Given the description of an element on the screen output the (x, y) to click on. 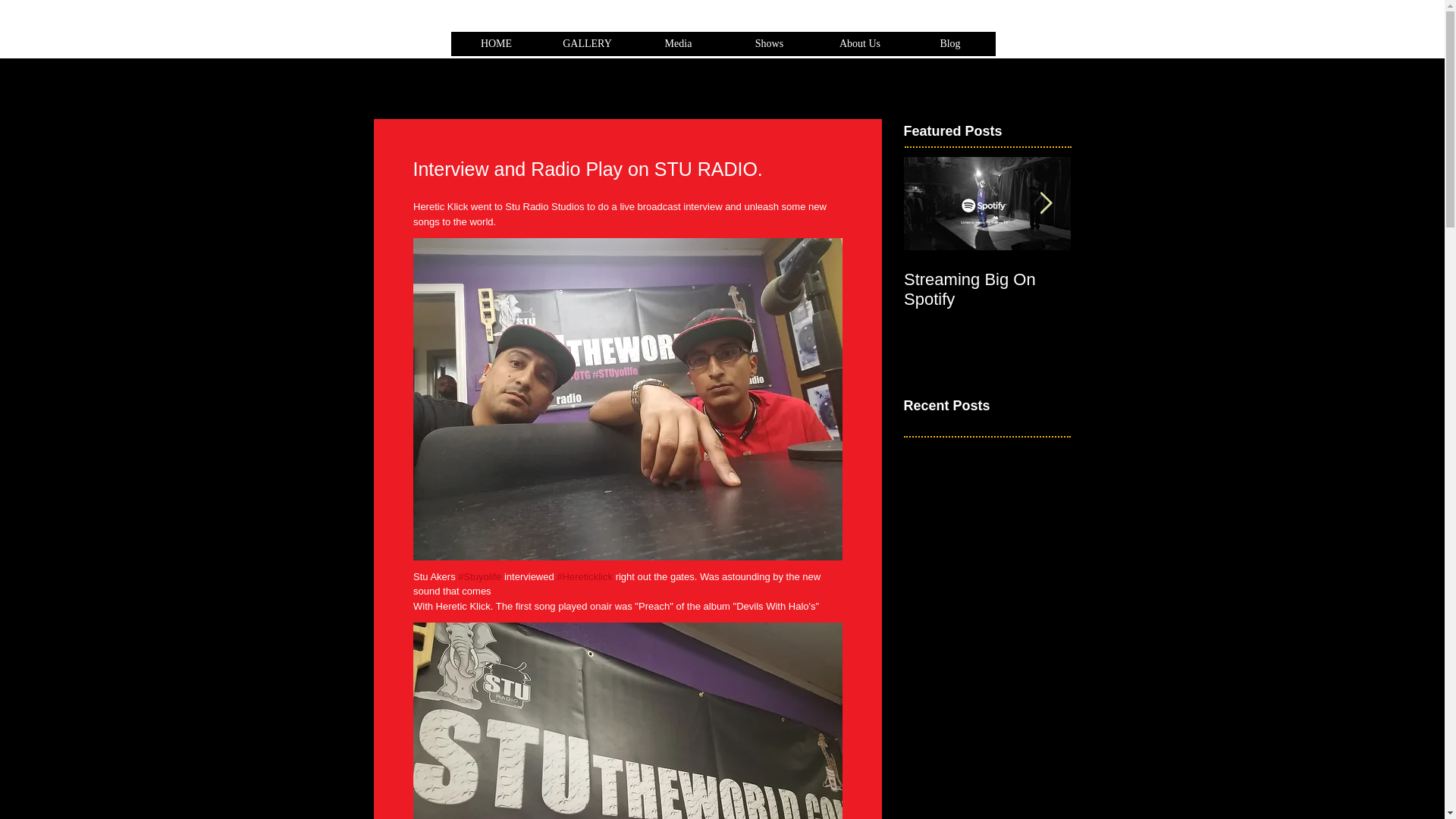
Media (677, 48)
Streaming Big On Spotify (987, 289)
Blog (950, 48)
Smoking out The Cannabis Cup 2017 (1153, 289)
Shows (768, 48)
GALLERY (586, 48)
HOME (987, 264)
About Us (987, 264)
